Given the description of an element on the screen output the (x, y) to click on. 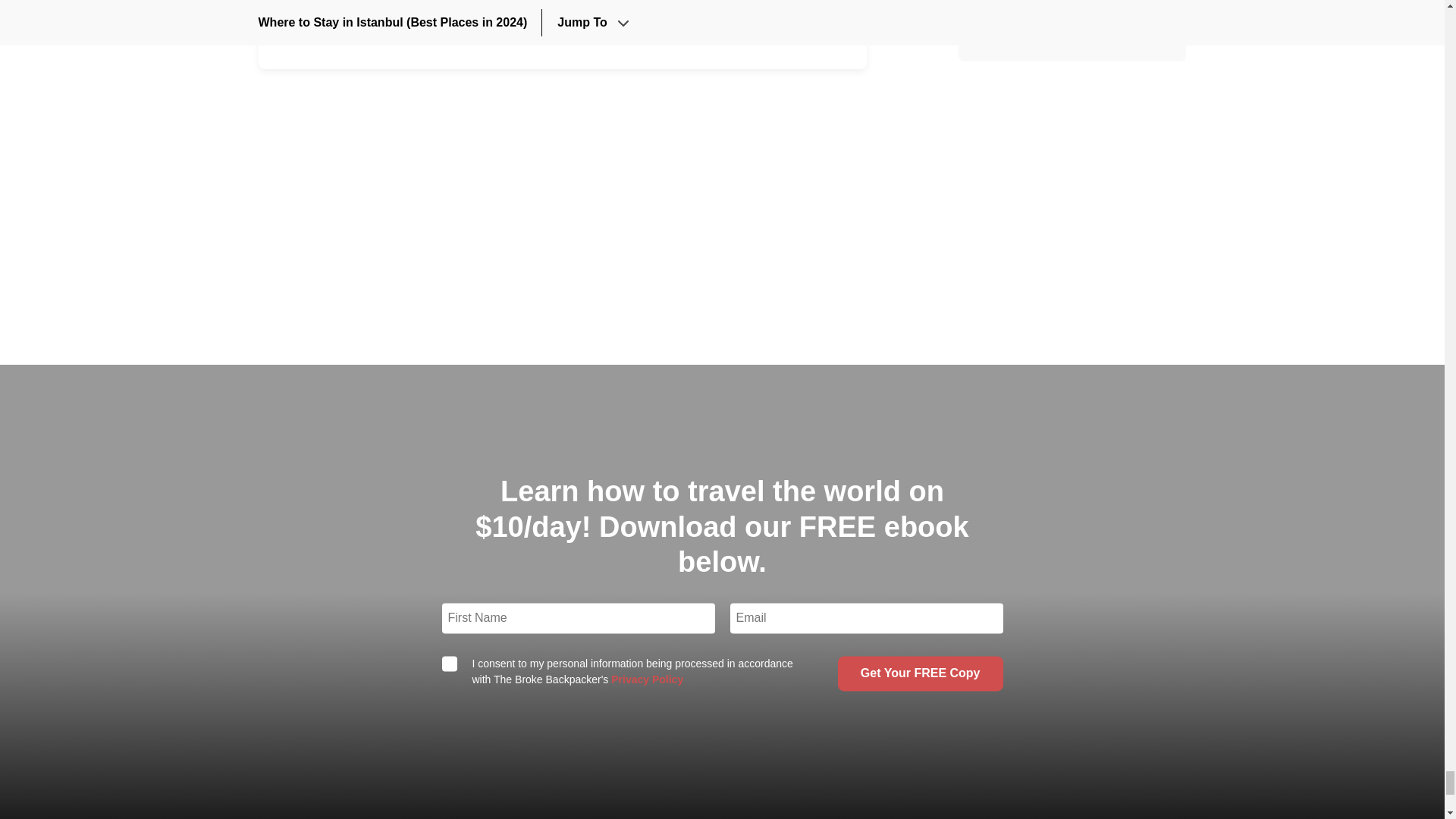
1 (449, 663)
